Given the description of an element on the screen output the (x, y) to click on. 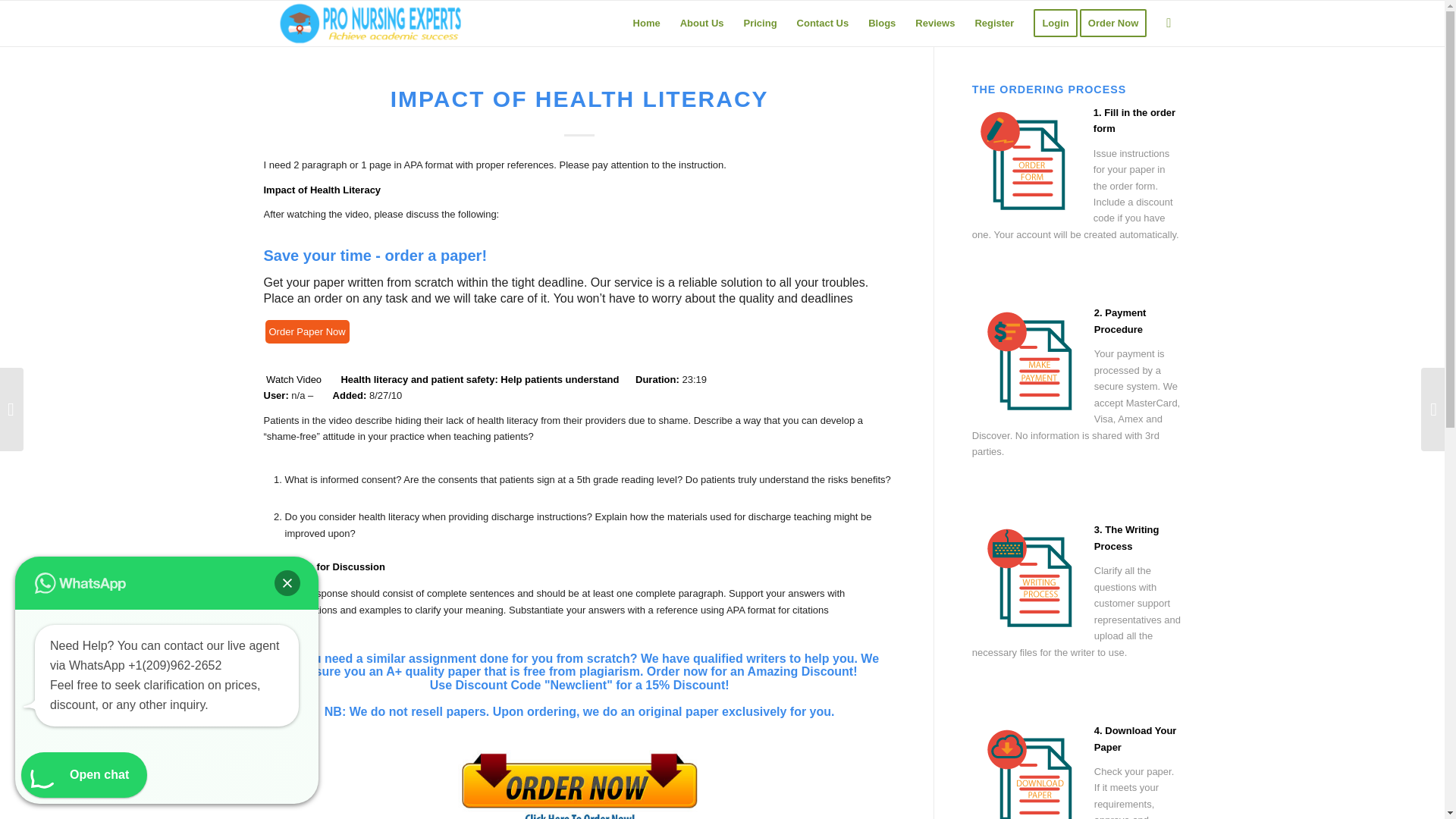
Blogs (882, 22)
Contact Us (823, 22)
Reviews (934, 22)
Pricing (760, 22)
Close (287, 583)
Permanent Link: Impact of Health Literacy (579, 98)
 Watch Video (293, 378)
About Us (701, 22)
IMPACT OF HEALTH LITERACY (579, 98)
Register (993, 22)
Login (1054, 22)
Home (646, 22)
Order Paper Now (306, 331)
Order Now (1118, 22)
